Given the description of an element on the screen output the (x, y) to click on. 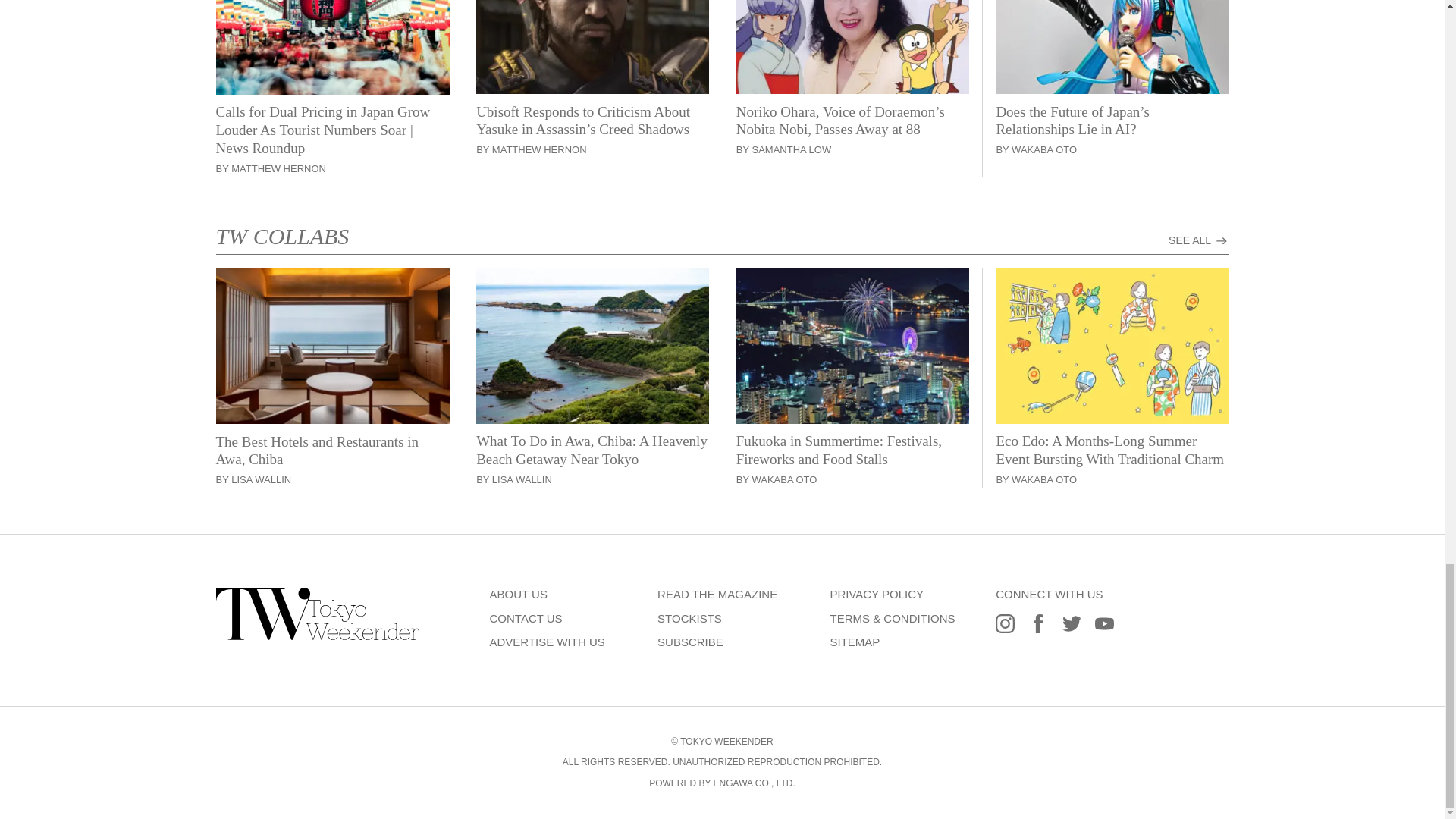
Tokyo Weekender (317, 635)
